Given the description of an element on the screen output the (x, y) to click on. 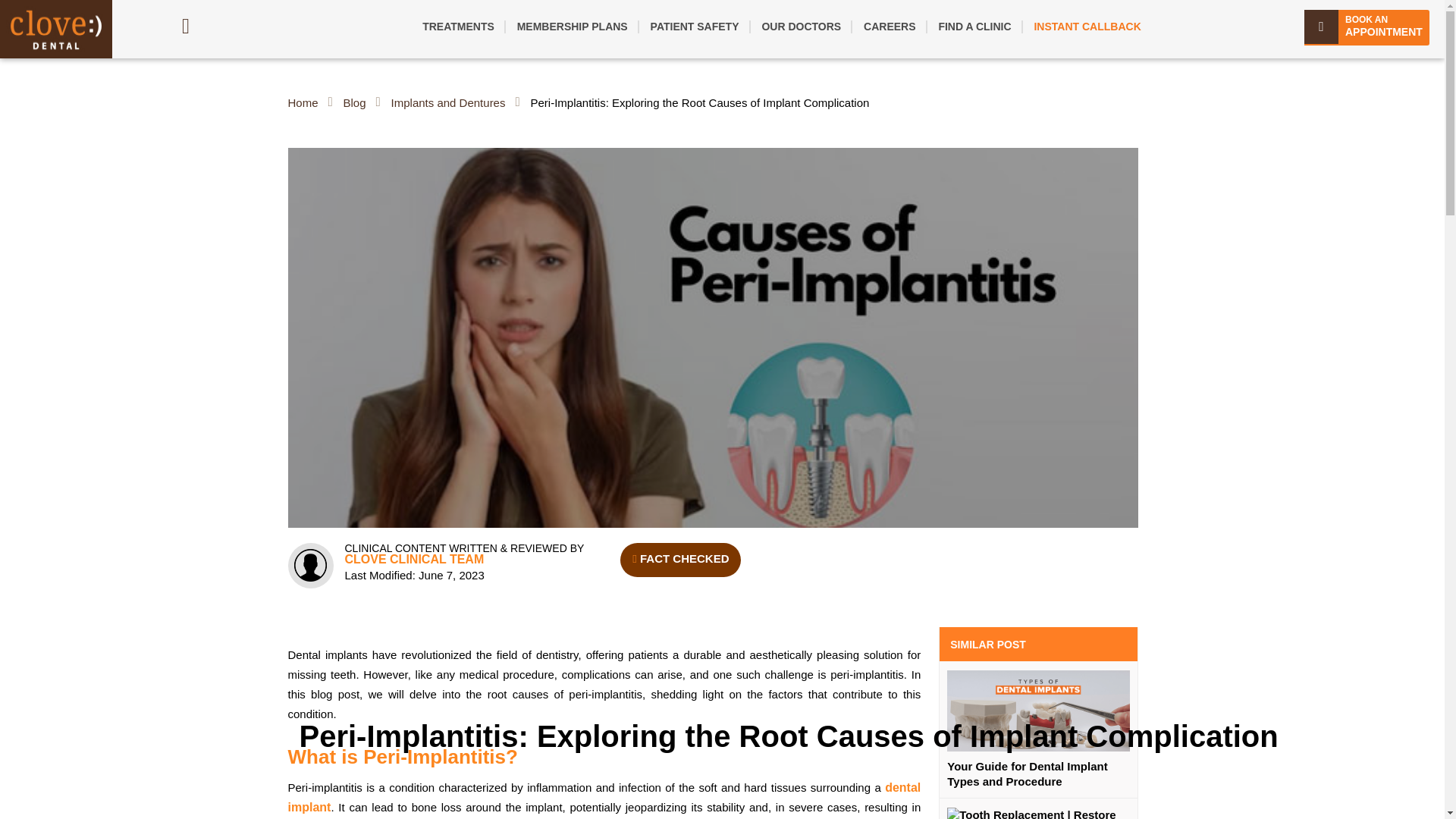
TREATMENTS (458, 26)
Book an appointment (1366, 27)
PATIENT SAFETY (694, 26)
MEMBERSHIP PLANS (572, 26)
